Given the description of an element on the screen output the (x, y) to click on. 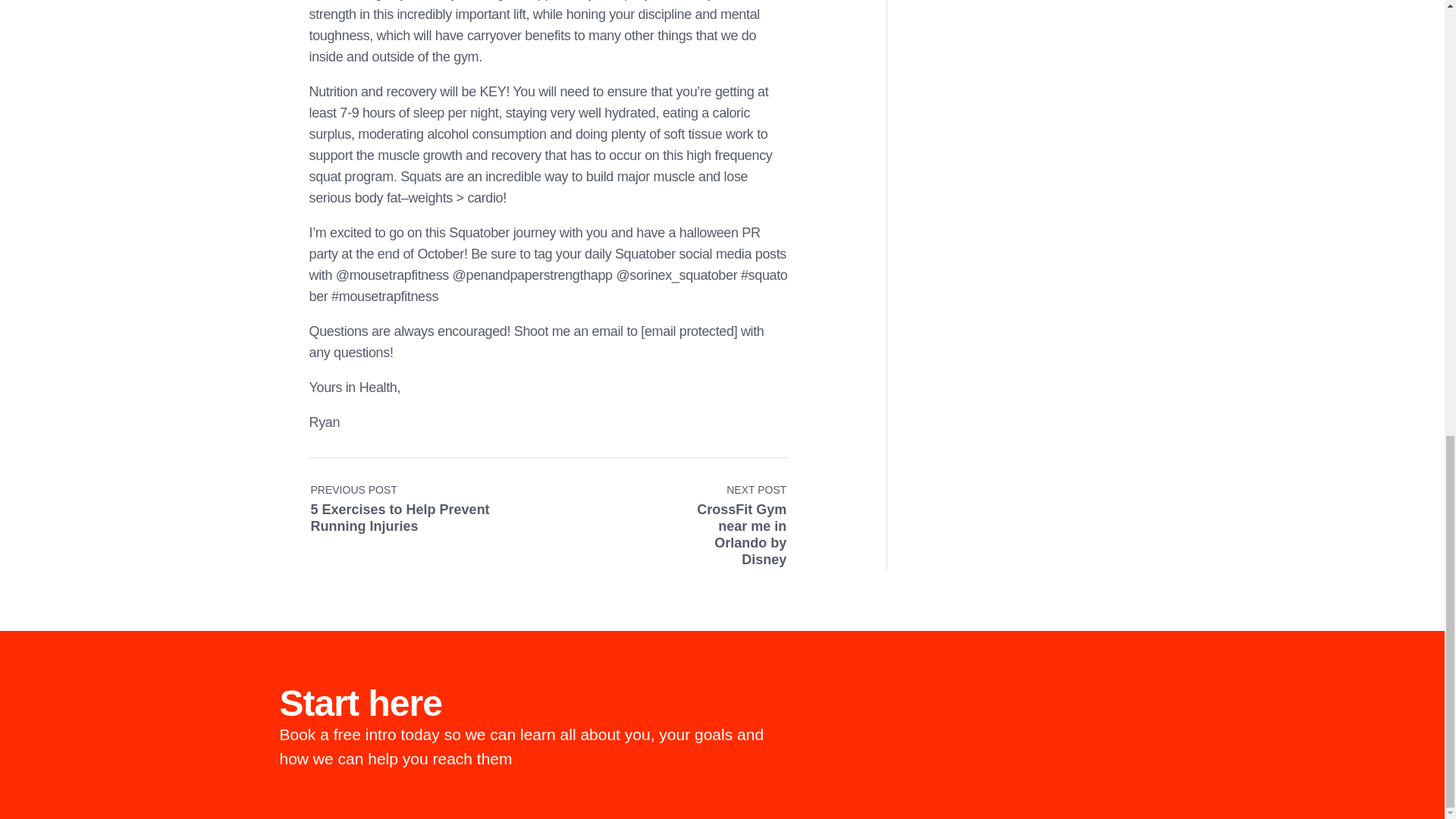
5 Exercises to Help Prevent Running Injuries (429, 500)
CrossFit Gym near me in Orlando by Disney (726, 500)
